Given the description of an element on the screen output the (x, y) to click on. 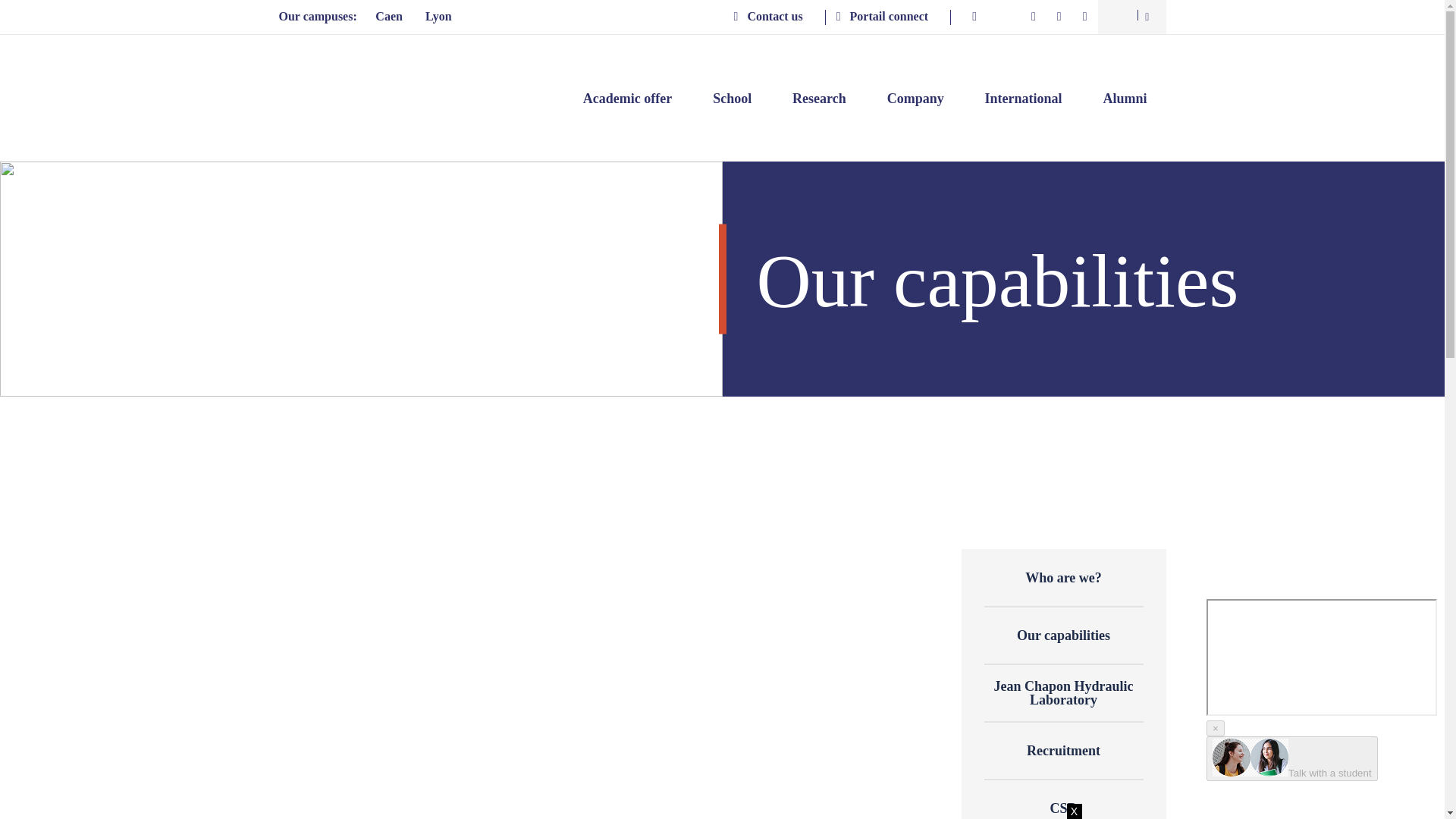
Lyon (438, 16)
Research (818, 98)
Contact us (779, 16)
Academic offer (627, 98)
School (732, 98)
Company (914, 98)
Portail connect (892, 16)
Caen (388, 16)
